Given the description of an element on the screen output the (x, y) to click on. 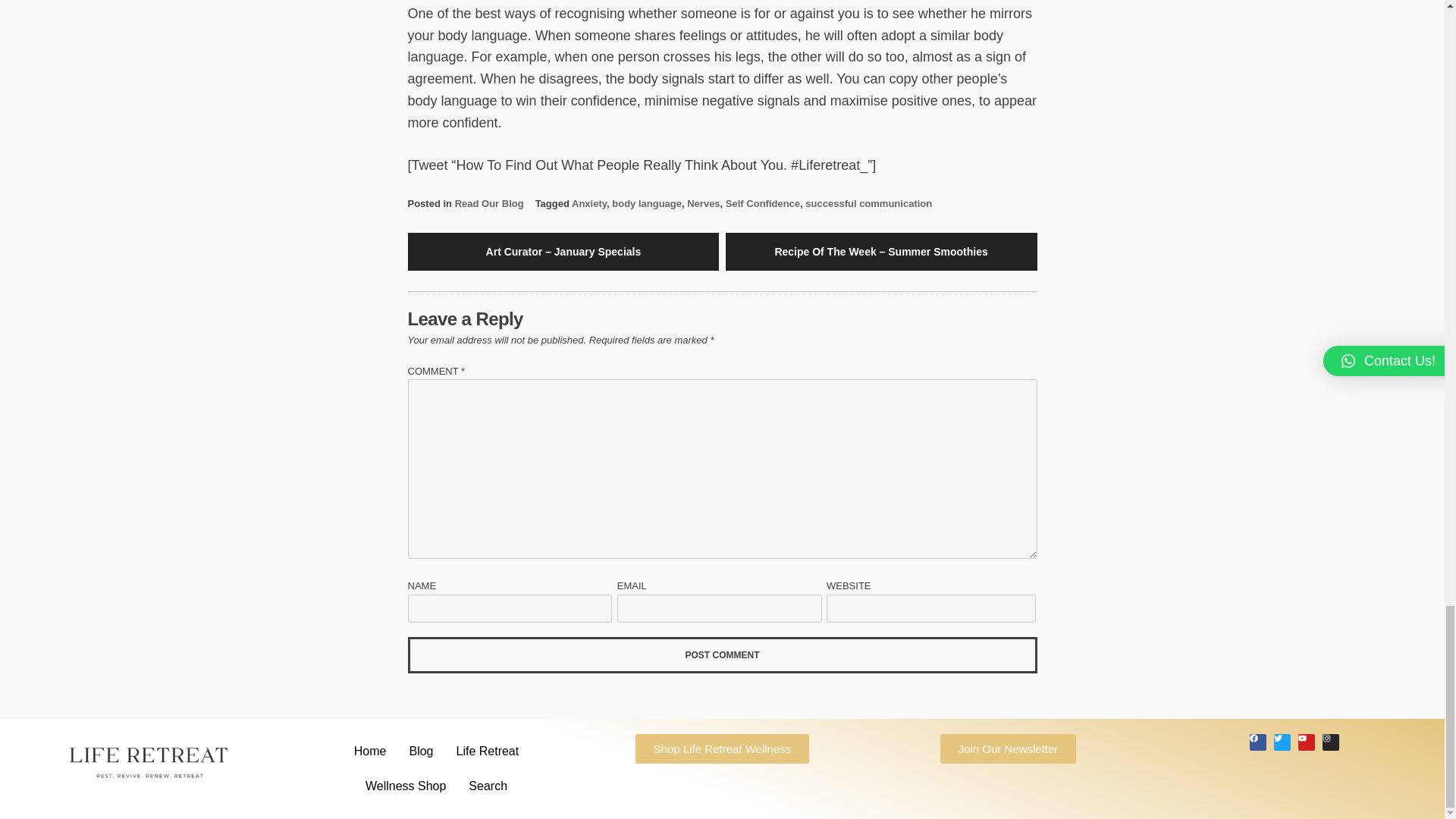
Read Our Blog (489, 203)
body language (646, 203)
Anxiety (589, 203)
Post Comment (721, 655)
